Given the description of an element on the screen output the (x, y) to click on. 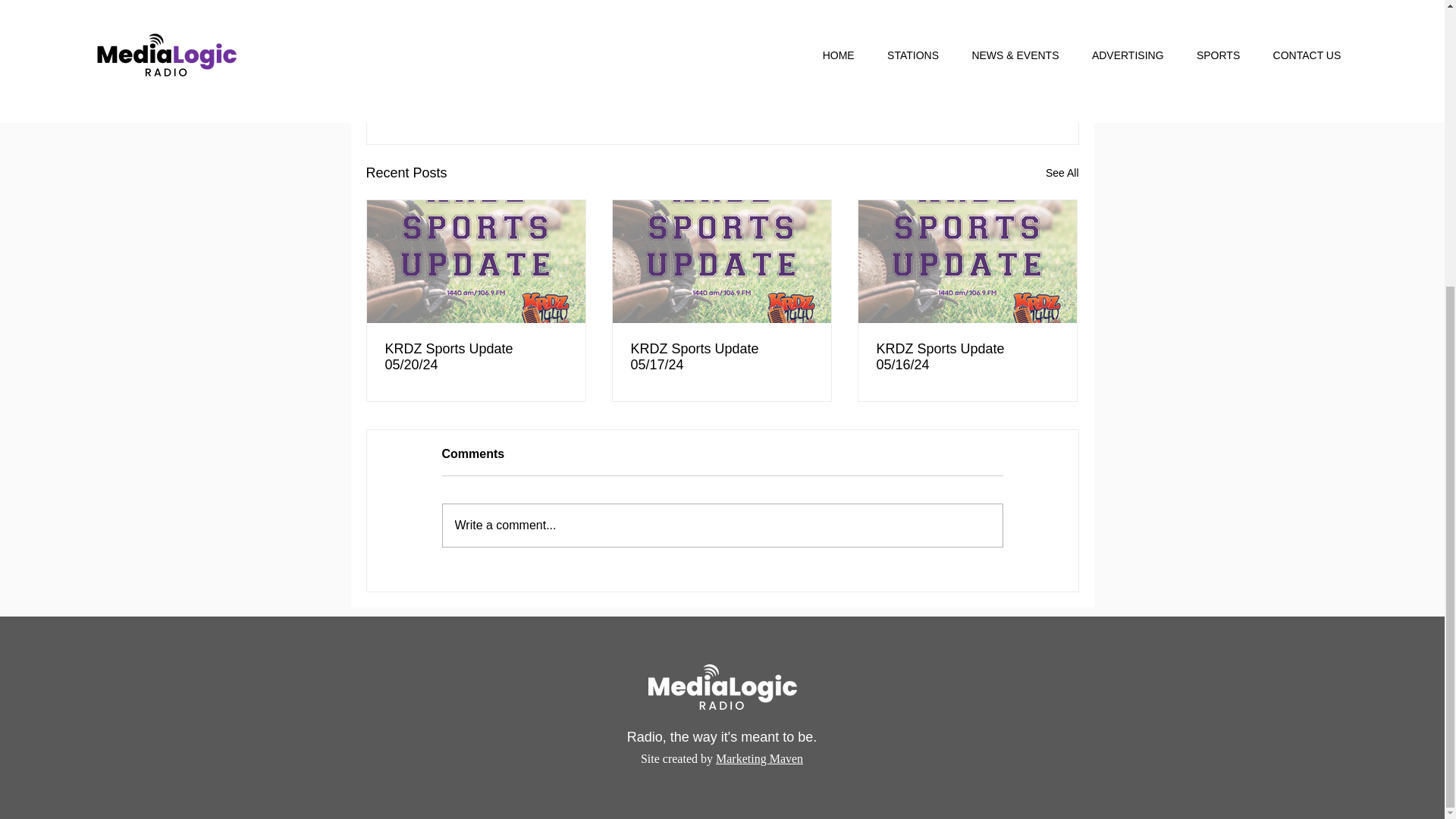
Write a comment... (722, 525)
See All (1061, 173)
KRDZ Sports (971, 74)
Marketing Maven (759, 758)
